Given the description of an element on the screen output the (x, y) to click on. 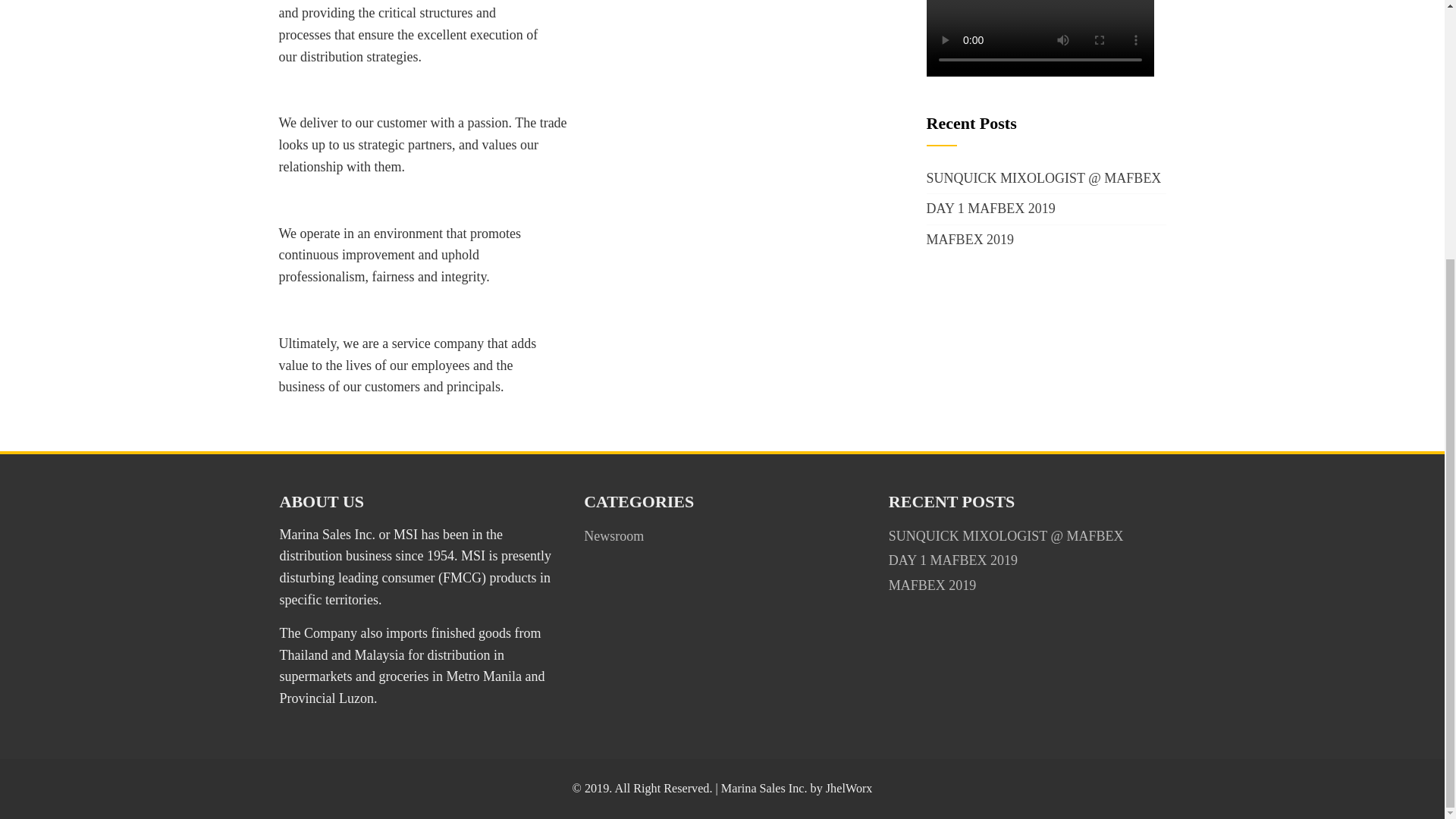
DAY 1 MAFBEX 2019 (952, 560)
Newsroom (613, 535)
DAY 1 MAFBEX 2019 (990, 208)
MAFBEX 2019 (932, 585)
MAFBEX 2019 (970, 239)
